Given the description of an element on the screen output the (x, y) to click on. 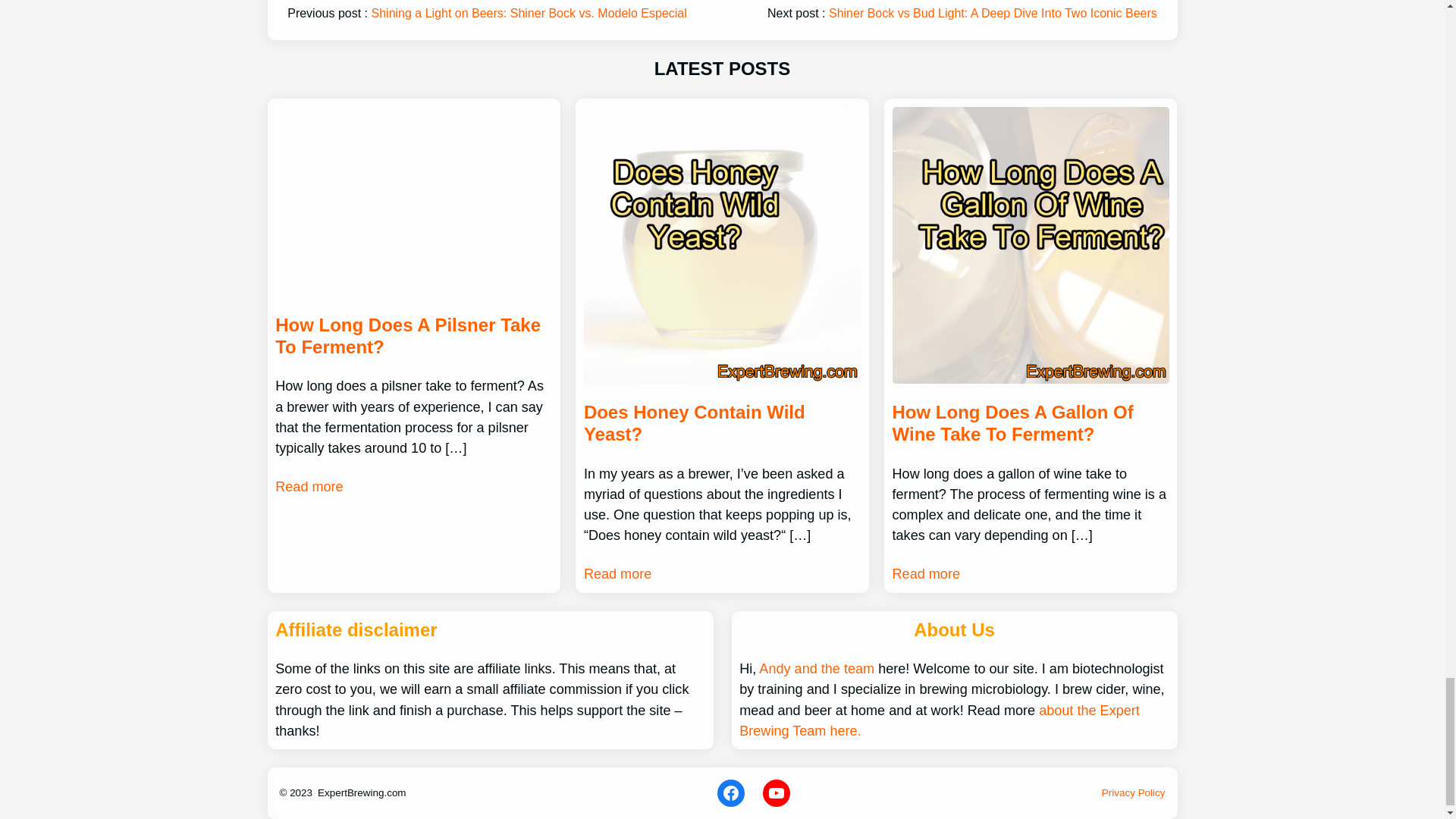
ExpertBrewing.com (361, 792)
about the Expert Brewing Team here. (939, 720)
Facebook (730, 792)
Read more (925, 574)
Shiner Bock vs Bud Light: A Deep Dive Into Two Iconic Beers (992, 11)
Privacy Policy (1134, 792)
Read more (308, 486)
How Long Does A Pilsner Take To Ferment? (413, 336)
Read more (616, 574)
Shining a Light on Beers: Shiner Bock vs. Modelo Especial (529, 11)
YouTube (776, 792)
Andy and the team (816, 668)
How Long Does A Gallon Of Wine Take To Ferment? (1030, 423)
Does Honey Contain Wild Yeast? (721, 423)
